Given the description of an element on the screen output the (x, y) to click on. 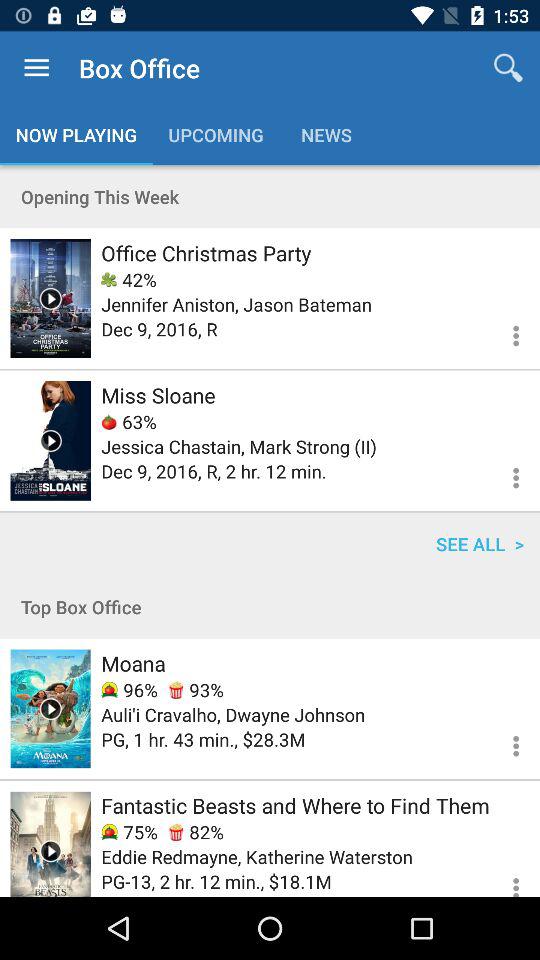
movie listed (50, 708)
